Given the description of an element on the screen output the (x, y) to click on. 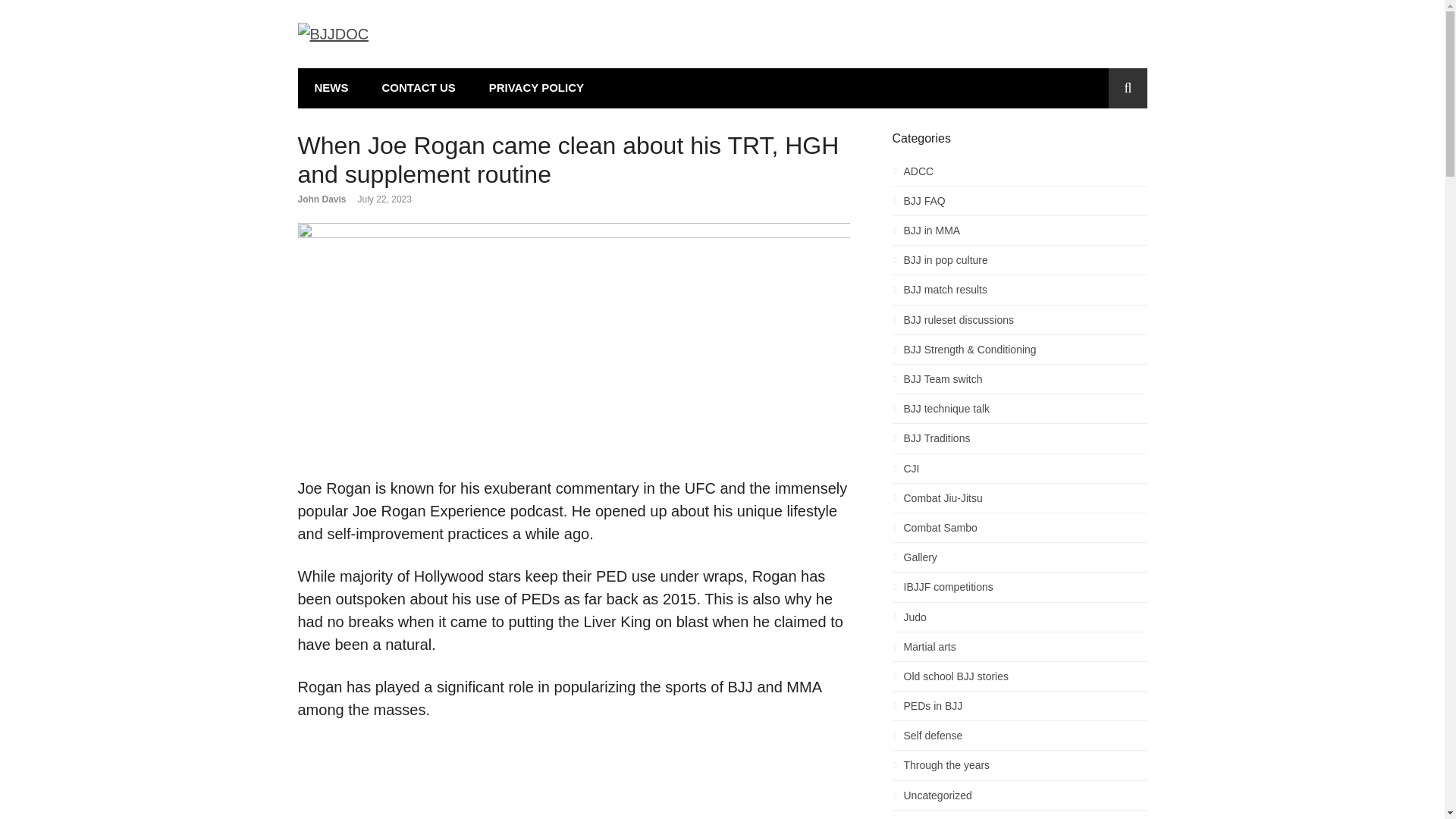
Combat Sambo (1019, 531)
NEWS (331, 87)
Gallery (1019, 561)
BJJ technique talk (1019, 413)
BJJ Team switch (1019, 382)
CONTACT US (418, 87)
CJI (1019, 472)
IBJJF competitions (1019, 590)
John Davis (321, 199)
BJJ in pop culture (1019, 264)
PRIVACY POLICY (535, 87)
Judo (1019, 620)
Combat Jiu-Jitsu (1019, 502)
BJJ ruleset discussions (1019, 323)
BJJ Traditions (1019, 442)
